Given the description of an element on the screen output the (x, y) to click on. 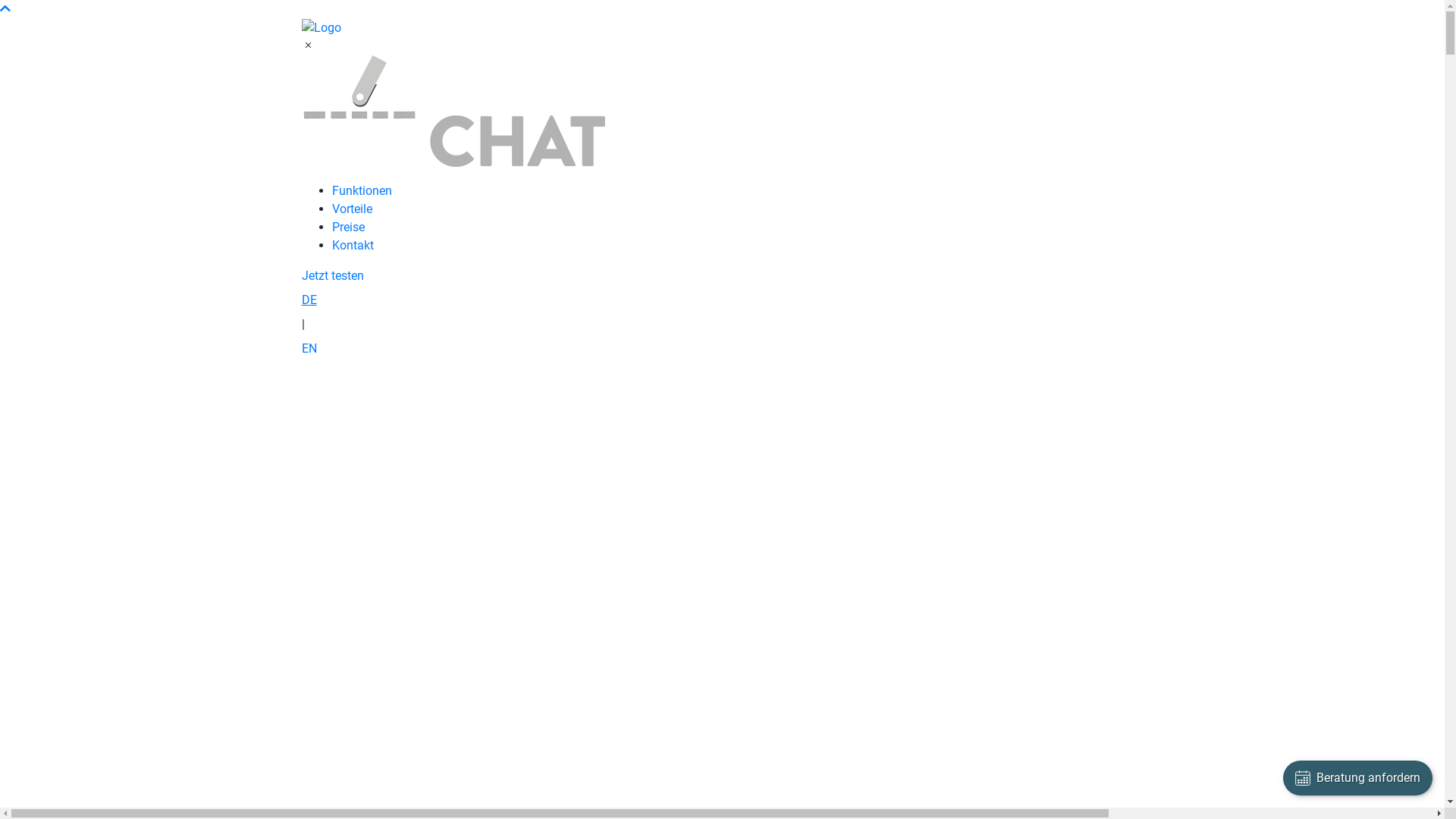
Beratung anfordern Element type: text (1357, 777)
Jetzt testen Element type: text (332, 275)
Preise Element type: text (348, 226)
EN Element type: text (722, 348)
Vorteile Element type: text (352, 208)
DE Element type: text (722, 300)
Kontakt Element type: text (352, 245)
Funktionen Element type: text (362, 190)
